Given the description of an element on the screen output the (x, y) to click on. 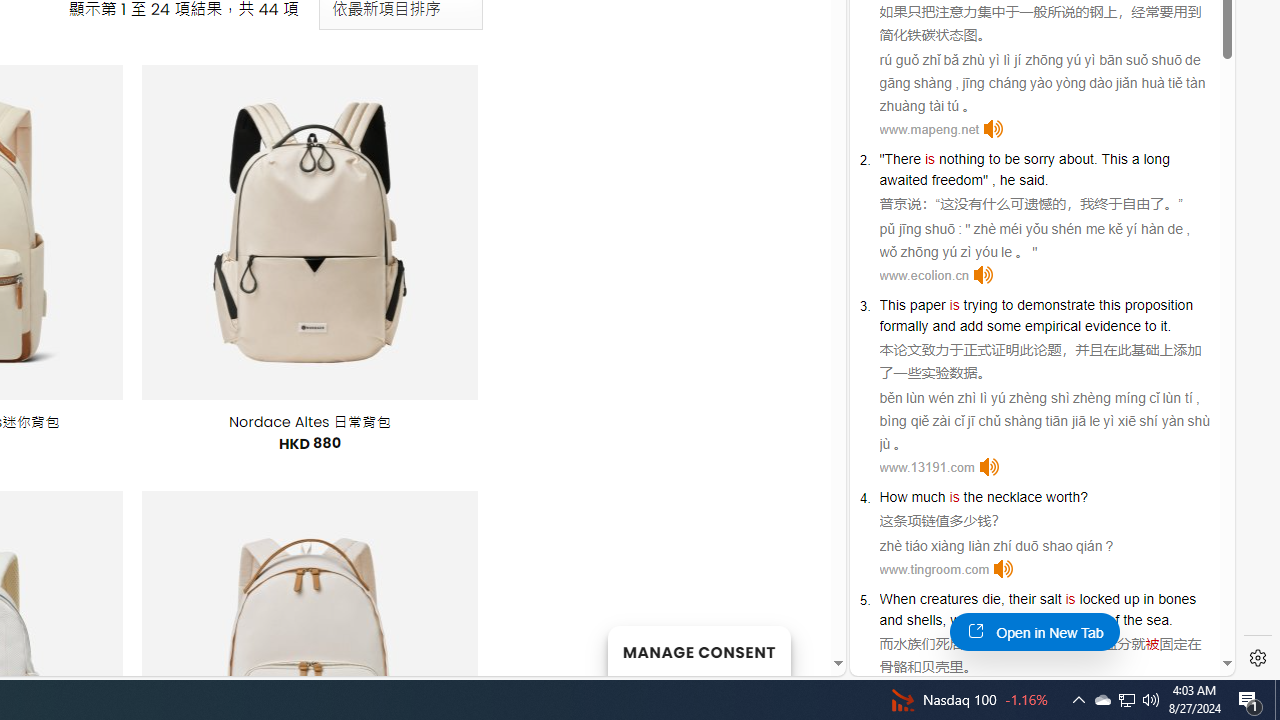
bottom (1081, 619)
sorry (1038, 159)
necklace (1014, 496)
sea (1157, 619)
paper (926, 304)
